Given the description of an element on the screen output the (x, y) to click on. 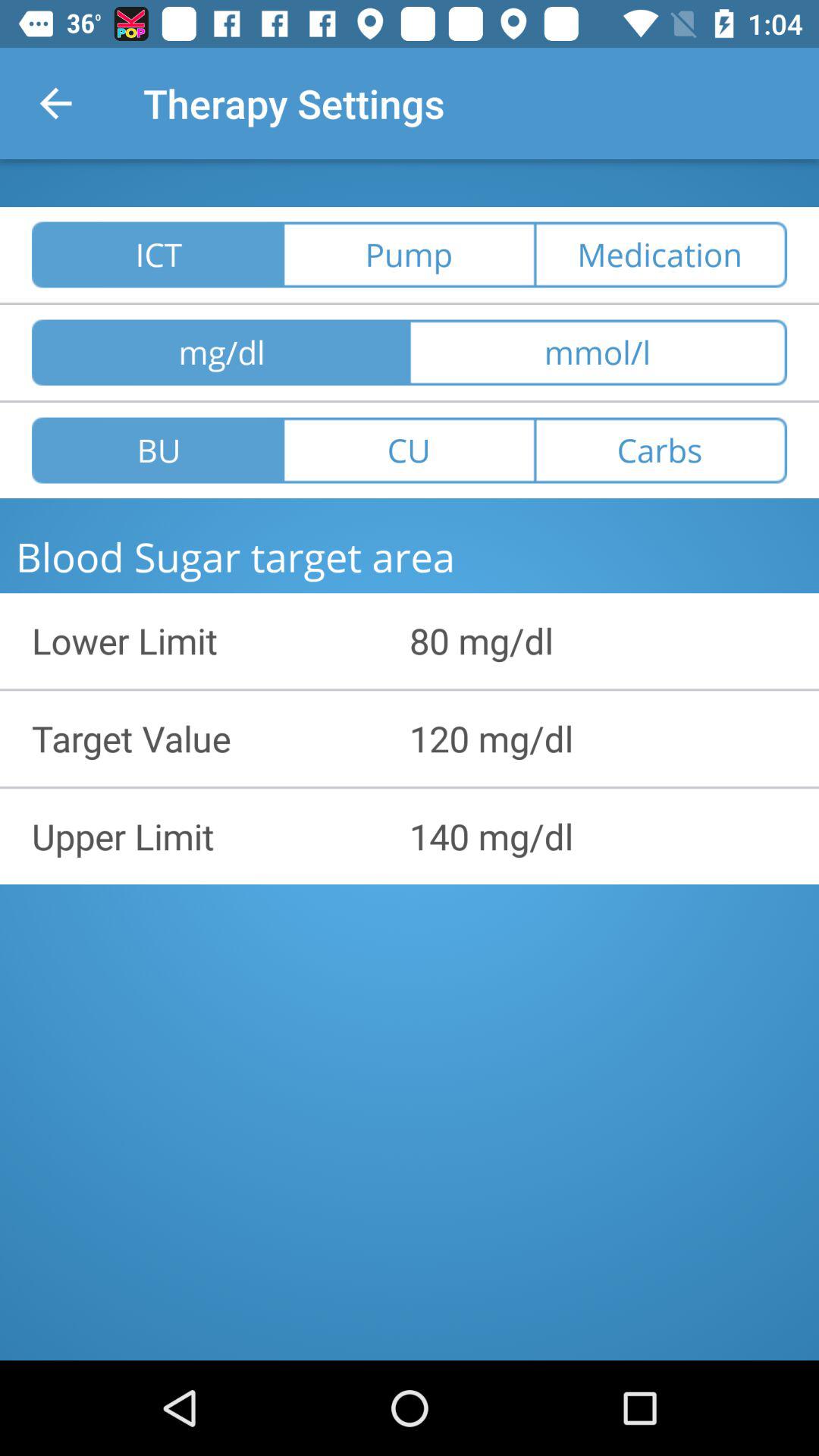
open mmol/l item (598, 352)
